Given the description of an element on the screen output the (x, y) to click on. 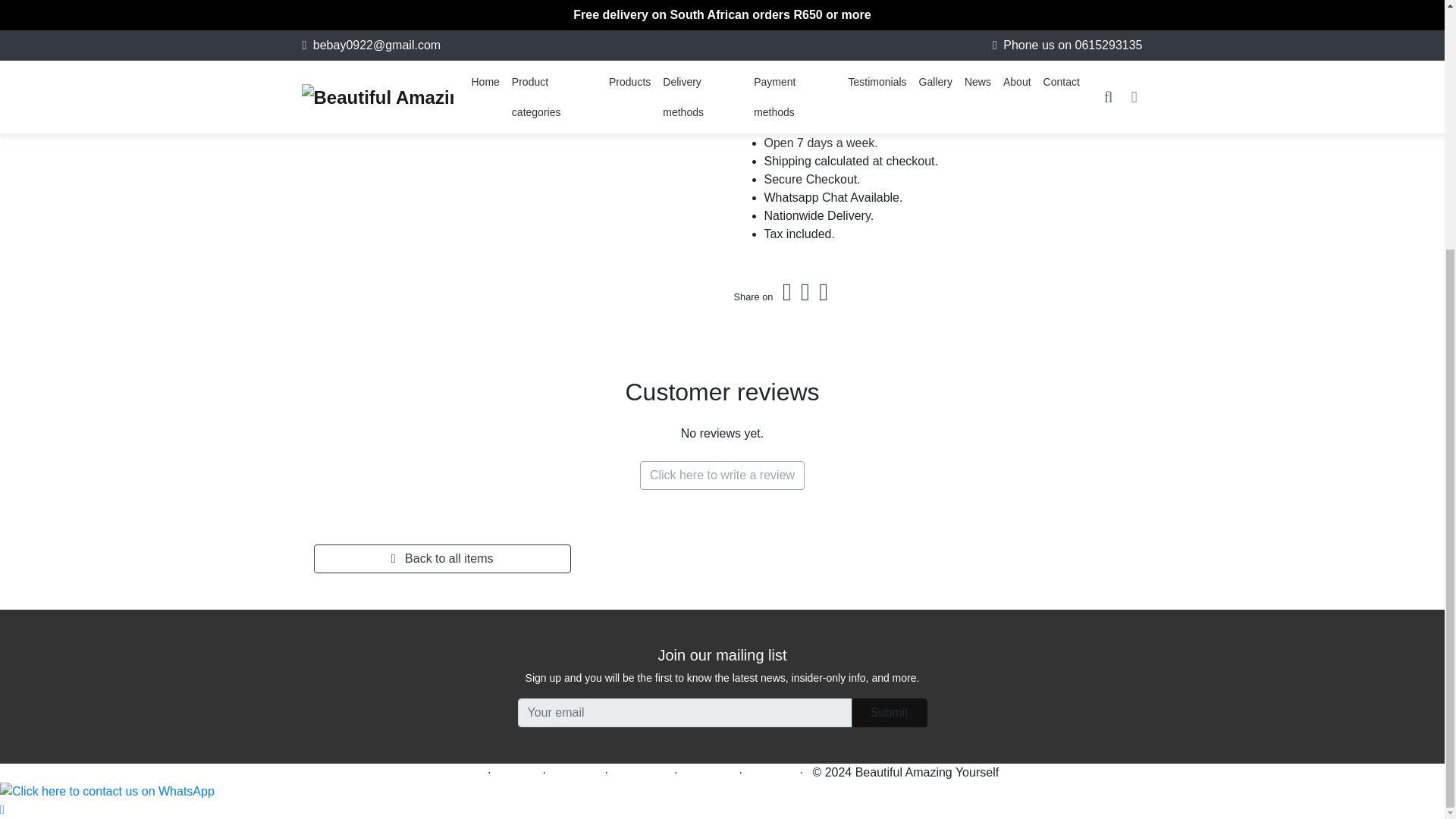
Shipping (640, 771)
Click here to write a review (722, 475)
Back to all items (442, 558)
Home (462, 771)
Privacy (575, 771)
Submit (889, 712)
Terms (517, 771)
Returns (708, 771)
Contact (769, 771)
